Given the description of an element on the screen output the (x, y) to click on. 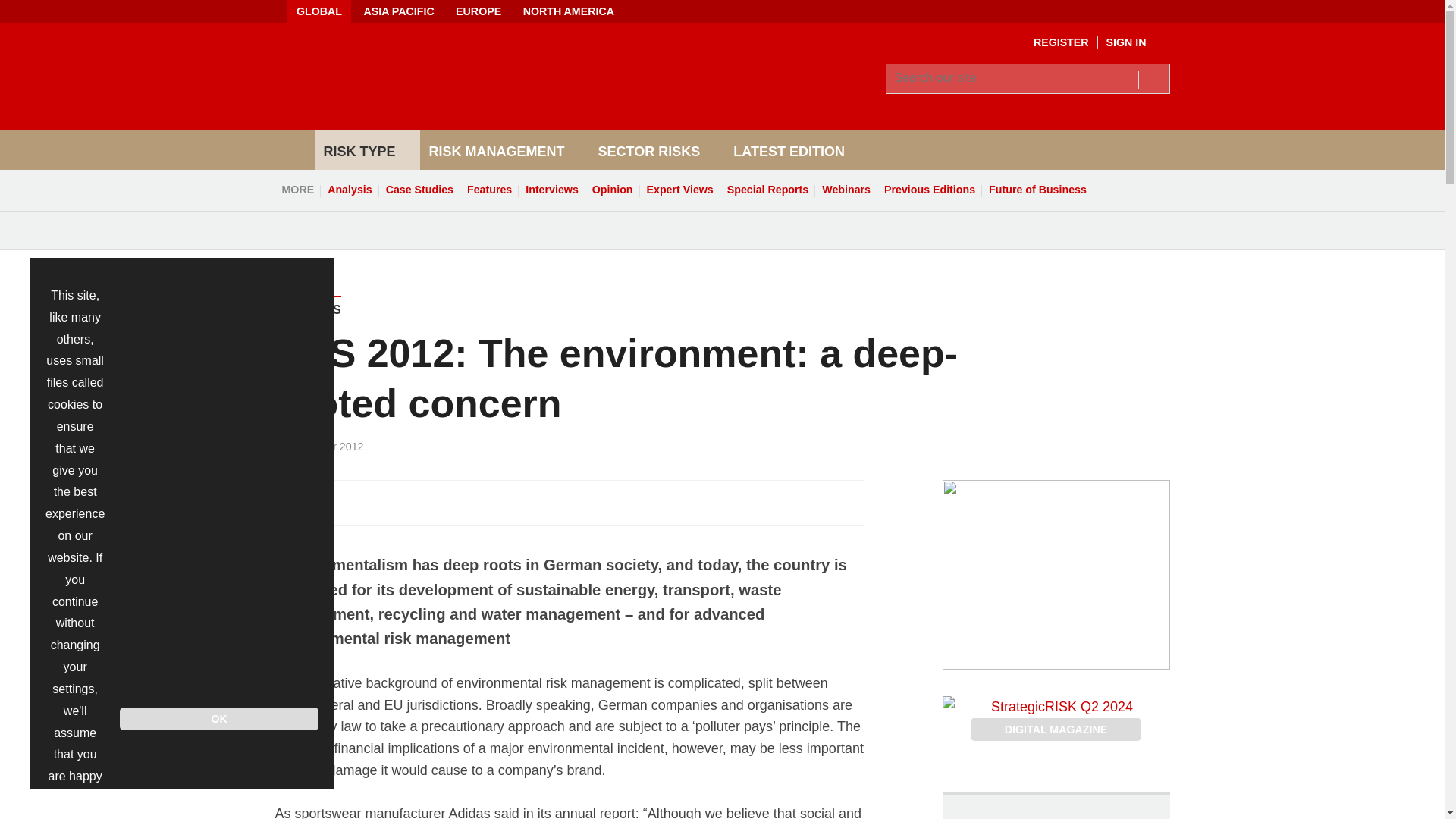
Insert Logo text (457, 106)
No comments (840, 510)
Share this on Linked in (352, 501)
NORTH AMERICA (568, 11)
Webinars (846, 189)
SEARCH (1153, 78)
ASIA PACIFIC (397, 11)
OK (218, 718)
EUROPE (478, 11)
Analysis (349, 189)
Previous Editions (929, 189)
Interviews (551, 189)
Special Reports (767, 189)
SIGN IN (1138, 42)
Future of Business (1037, 189)
